Given the description of an element on the screen output the (x, y) to click on. 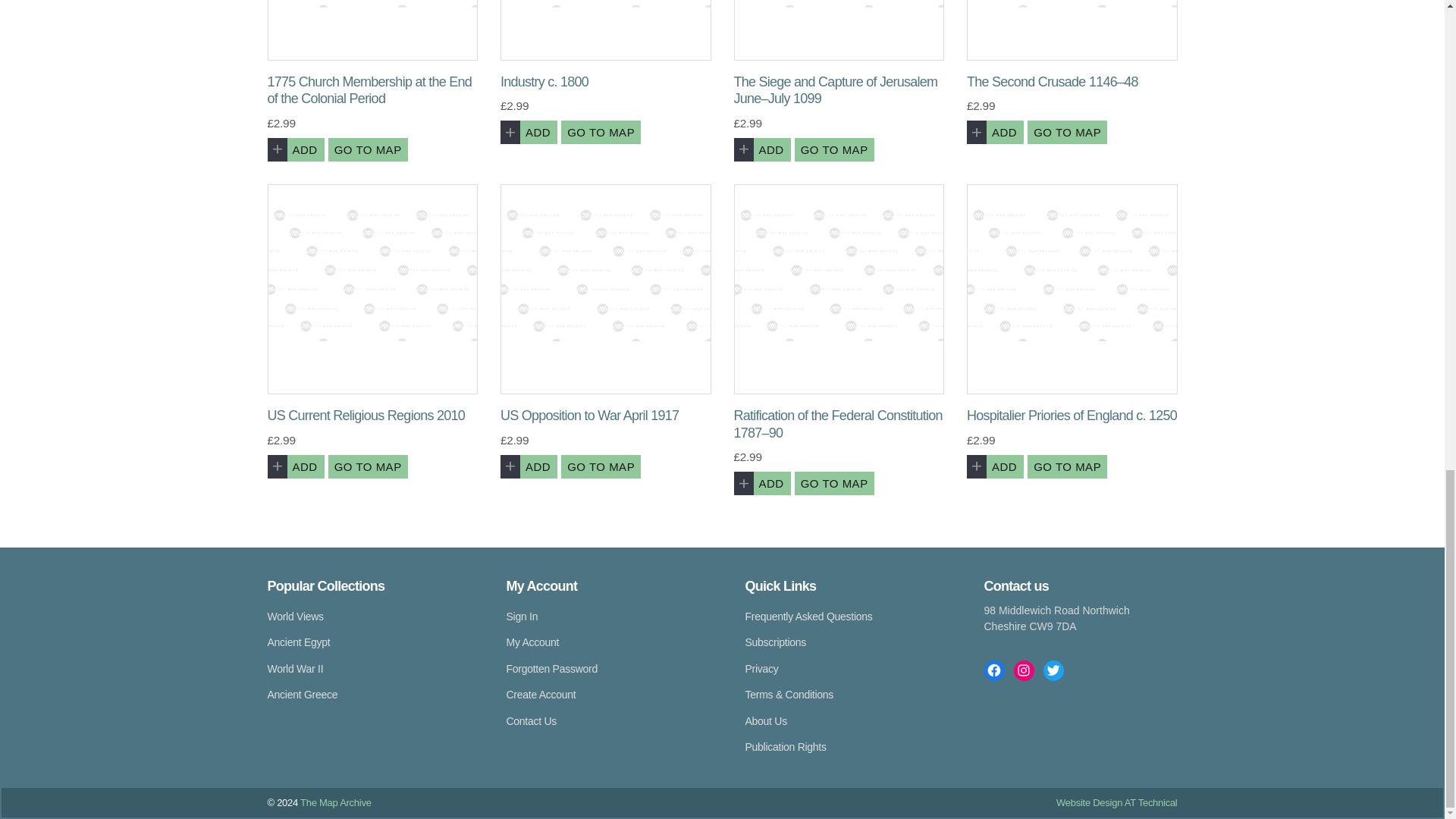
US Current Religious Regions 2010 (371, 289)
Industry c. 1800 (605, 30)
Hospitalier Priories of England c. 1250 (1071, 289)
US Opposition to War April 1917 (605, 289)
1775 Church Membership at the End of the Colonial Period (371, 30)
